Given the description of an element on the screen output the (x, y) to click on. 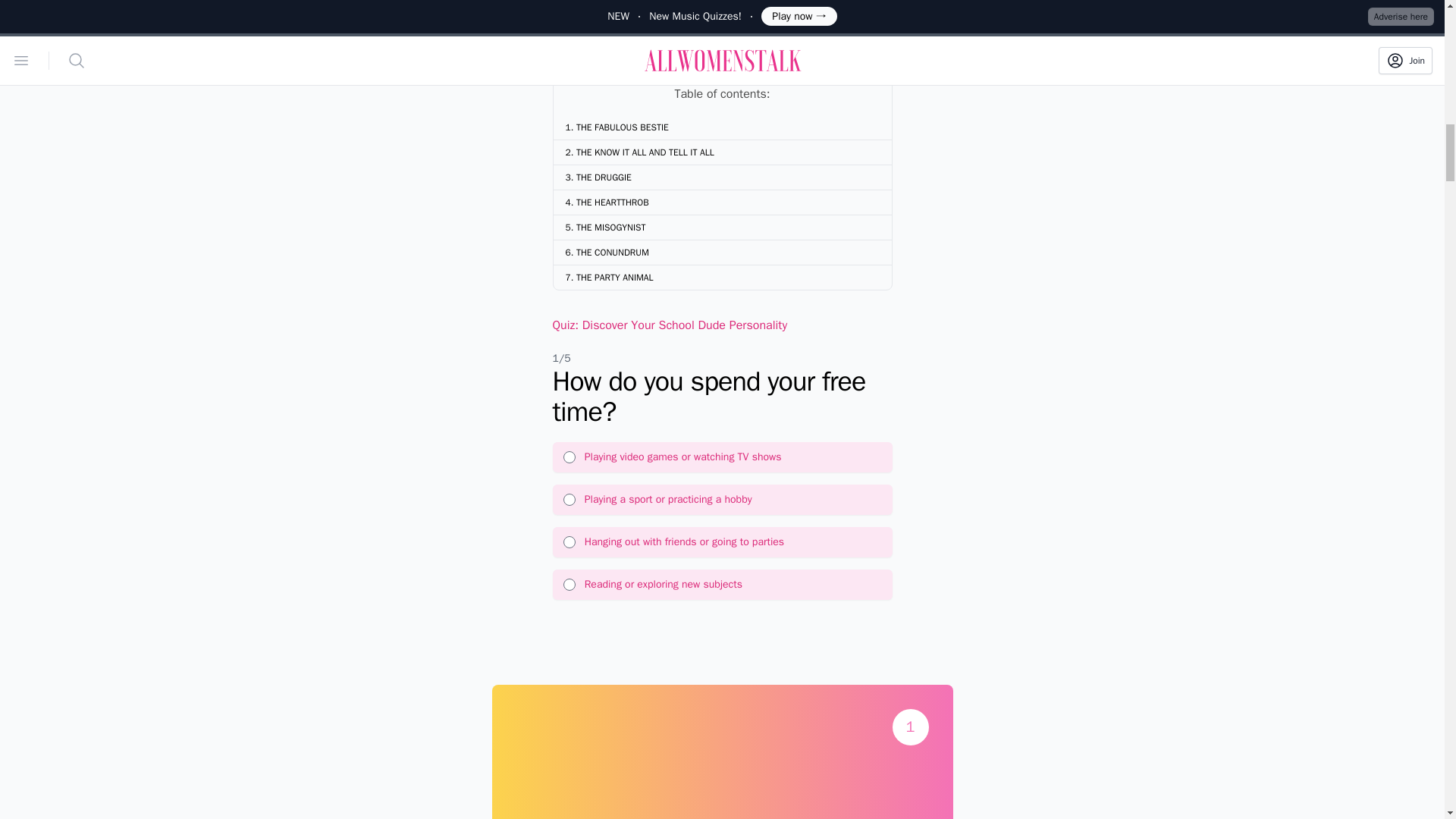
A (568, 457)
B (568, 499)
D (568, 584)
C (568, 541)
